Given the description of an element on the screen output the (x, y) to click on. 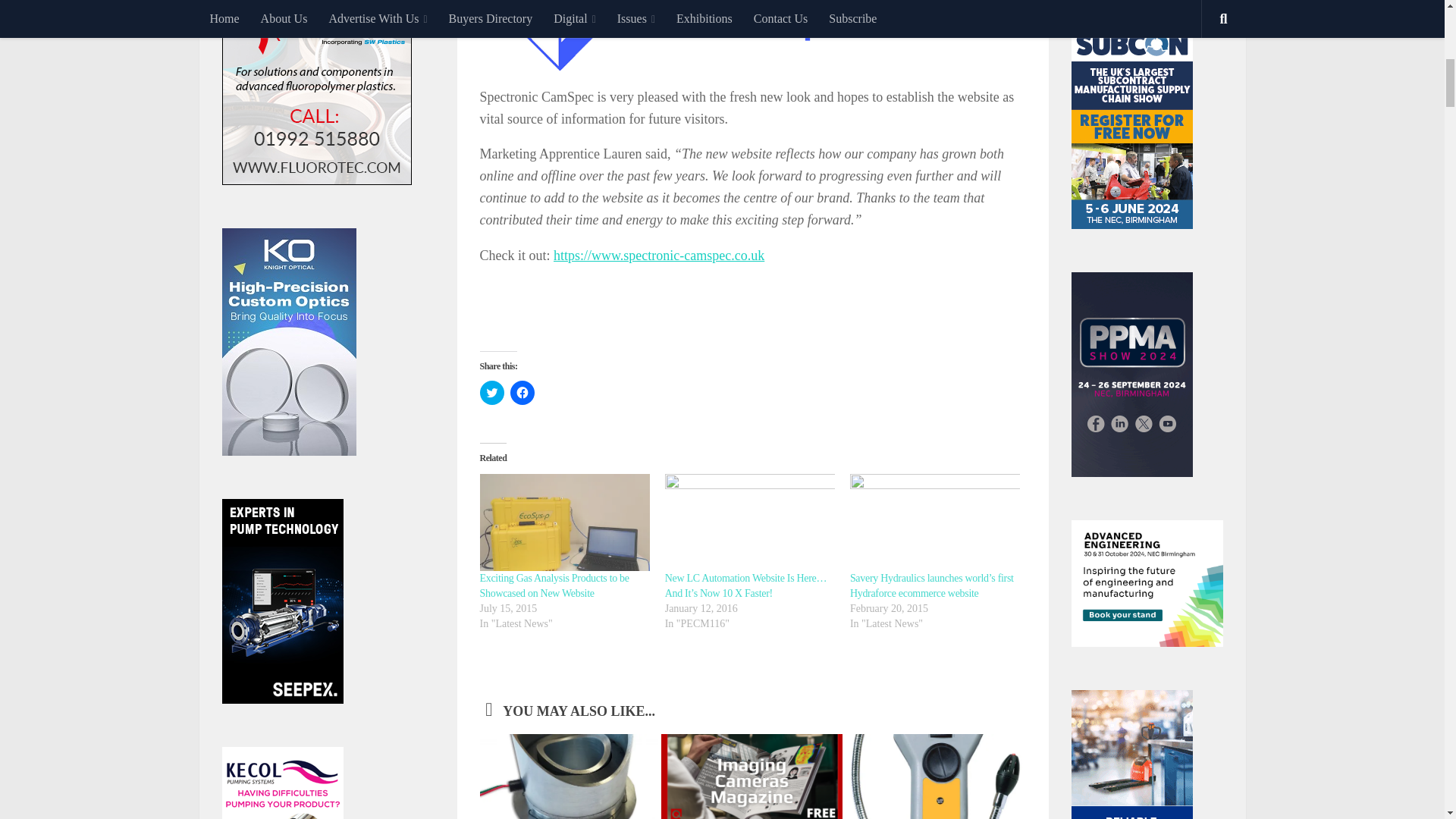
Click to share on Twitter (491, 392)
Click to share on Facebook (521, 392)
